Given the description of an element on the screen output the (x, y) to click on. 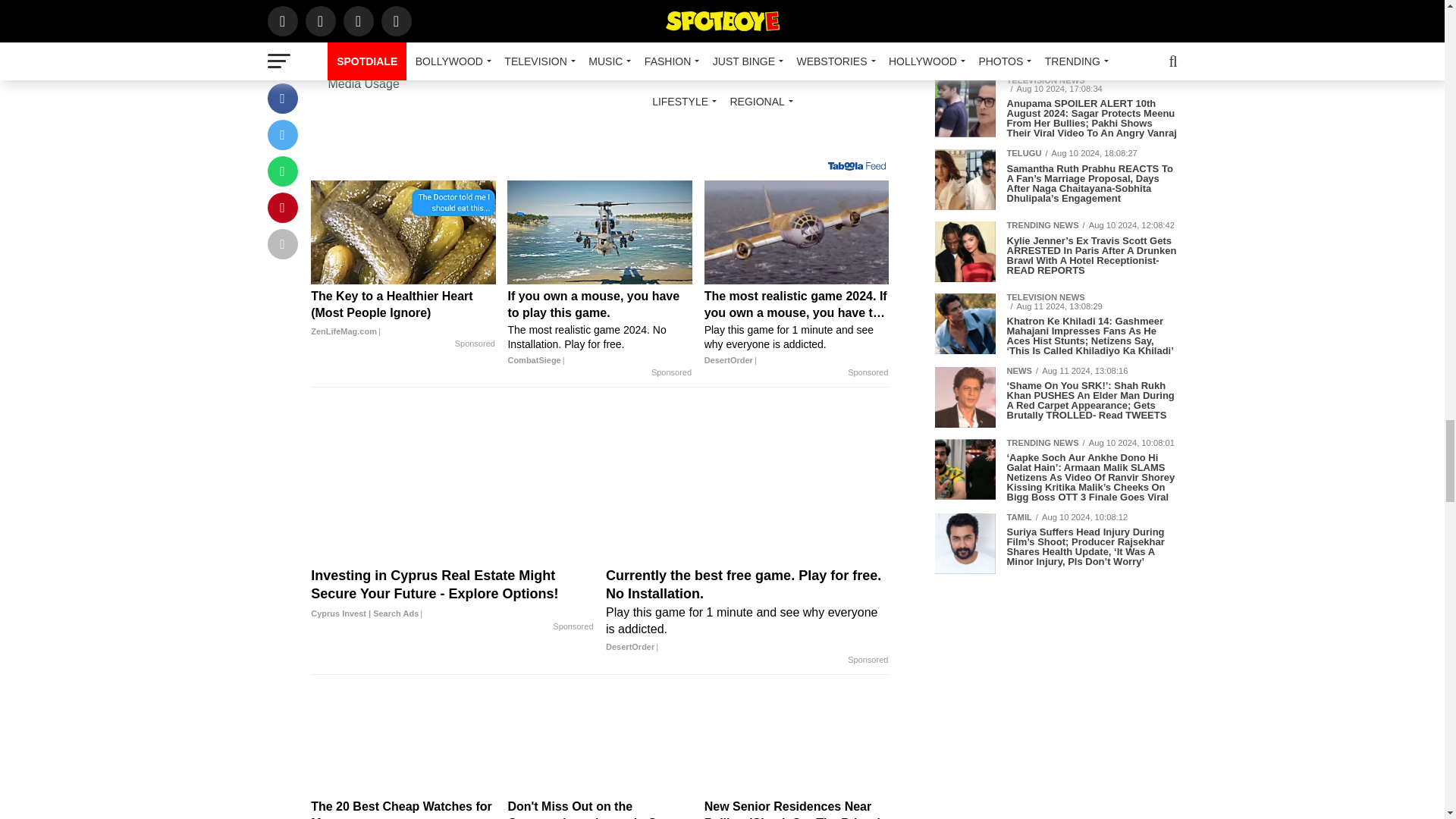
The 20 Best Cheap Watches for Men (403, 808)
If you own a mouse, you have to play this game. (599, 328)
